Given the description of an element on the screen output the (x, y) to click on. 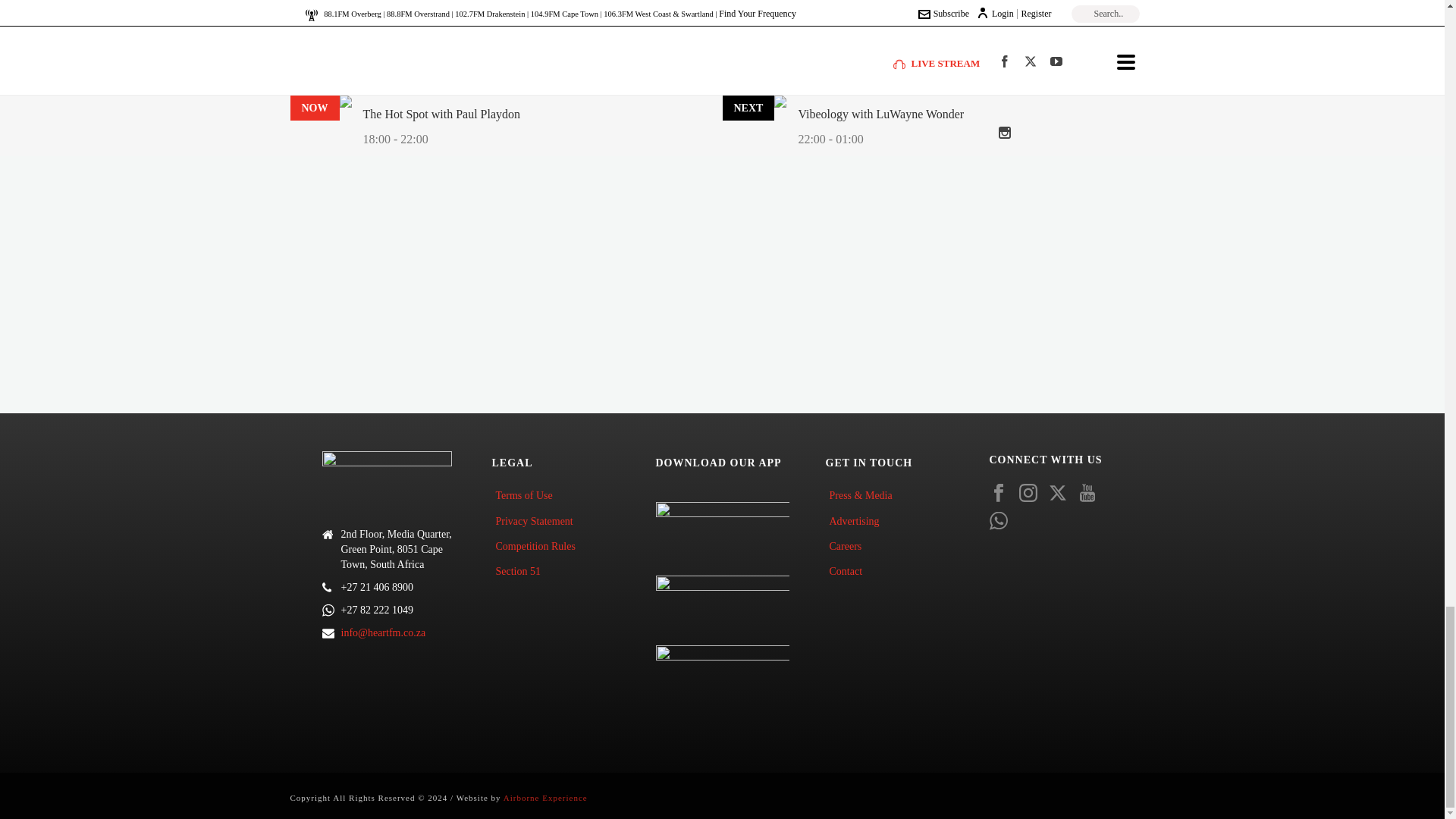
Privacy Statement (537, 520)
Alleged killer arrested (364, 40)
Terms of Use (527, 495)
Follow Us on youtube (1087, 494)
Follow Us on facebook (997, 494)
Water outage for some Cape Town suburbs (408, 73)
Follow Us on instagram (1027, 494)
Follow Us on twitter (1056, 494)
Wendy Kloppers' alleged murderer in court (408, 7)
Advocacy group slams decision to release killer cop (427, 106)
